Given the description of an element on the screen output the (x, y) to click on. 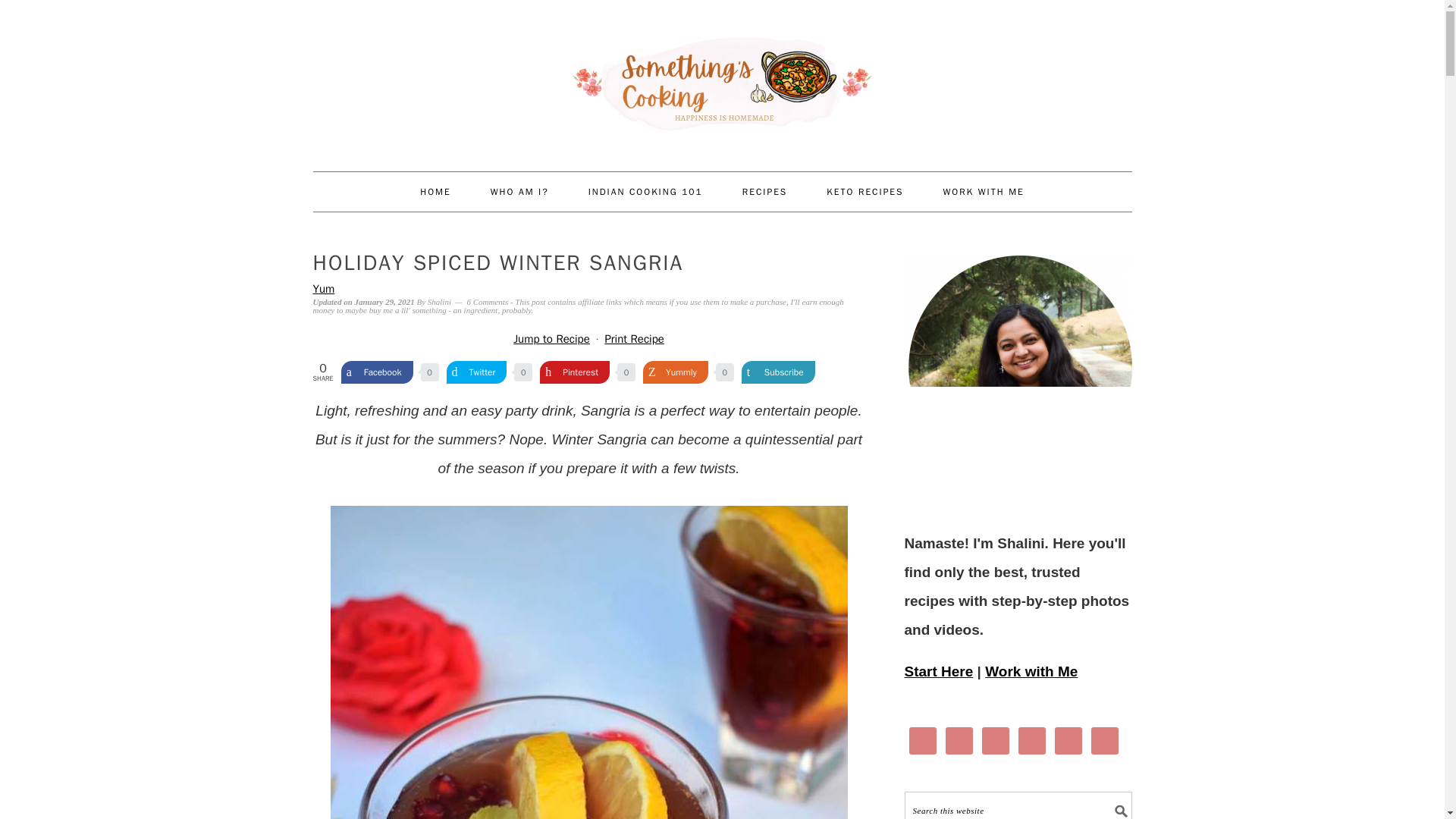
Pinterest (575, 372)
RECIPES (764, 191)
6 Comments (486, 301)
Share on Facebook (376, 372)
HOME (434, 191)
Facebook (376, 372)
WORK WITH ME (982, 191)
Share on Pinterest (575, 372)
Subscribe (778, 372)
Twitter (476, 372)
